Given the description of an element on the screen output the (x, y) to click on. 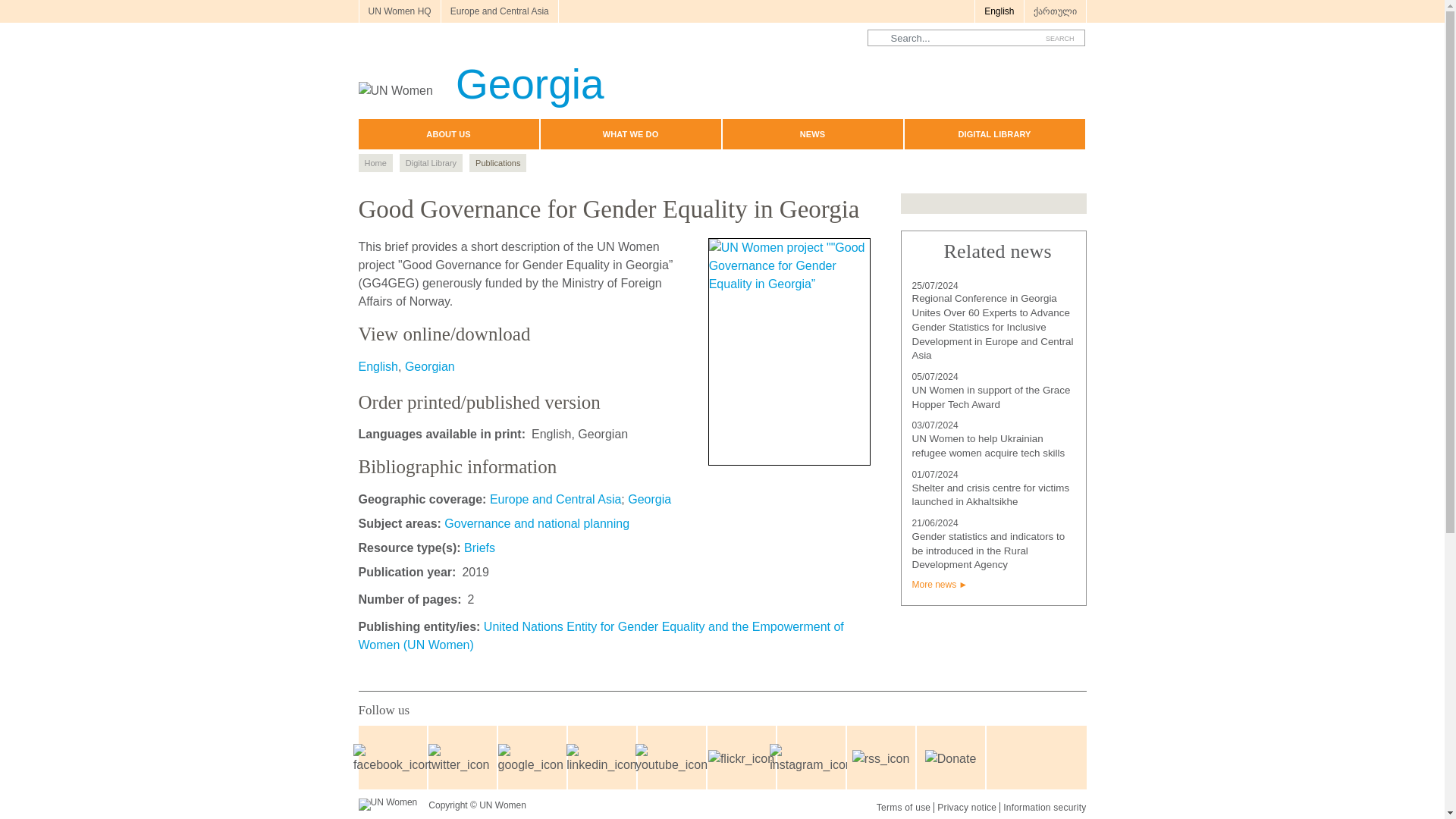
NEWS (812, 132)
WHAT WE DO (630, 132)
English (998, 11)
UN Women (387, 804)
English (377, 366)
Europe and Central Asia (556, 499)
UN Women HQ (398, 11)
Digital Library (430, 162)
Governance and national planning (536, 522)
News feed (879, 758)
